Given the description of an element on the screen output the (x, y) to click on. 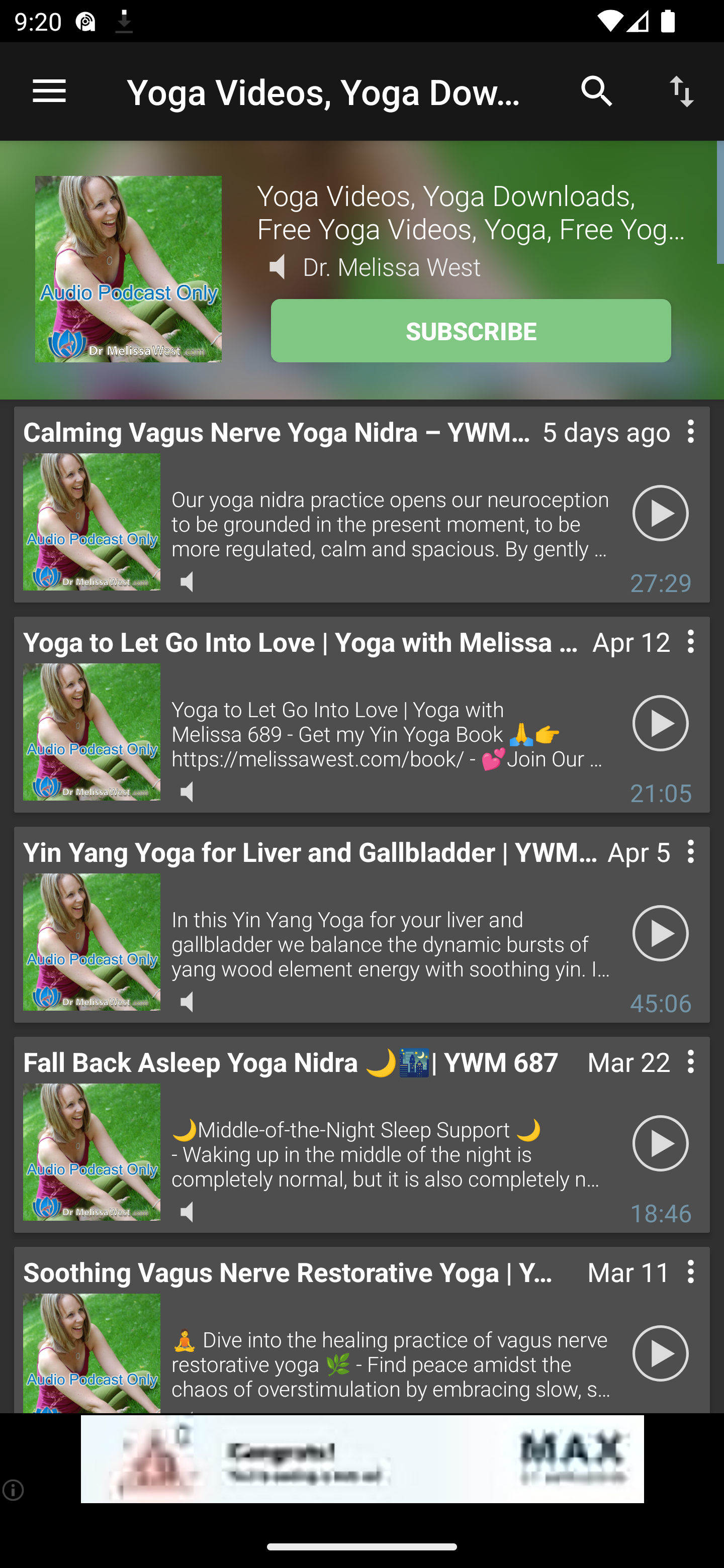
Open navigation sidebar (49, 91)
Search (597, 90)
Sort (681, 90)
SUBSCRIBE (470, 330)
Contextual menu (668, 451)
Play (660, 513)
Contextual menu (668, 661)
Play (660, 723)
Contextual menu (668, 870)
Play (660, 933)
Contextual menu (668, 1080)
Play (660, 1143)
Contextual menu (668, 1290)
Play (660, 1353)
app-monetization (362, 1459)
(i) (14, 1489)
